Given the description of an element on the screen output the (x, y) to click on. 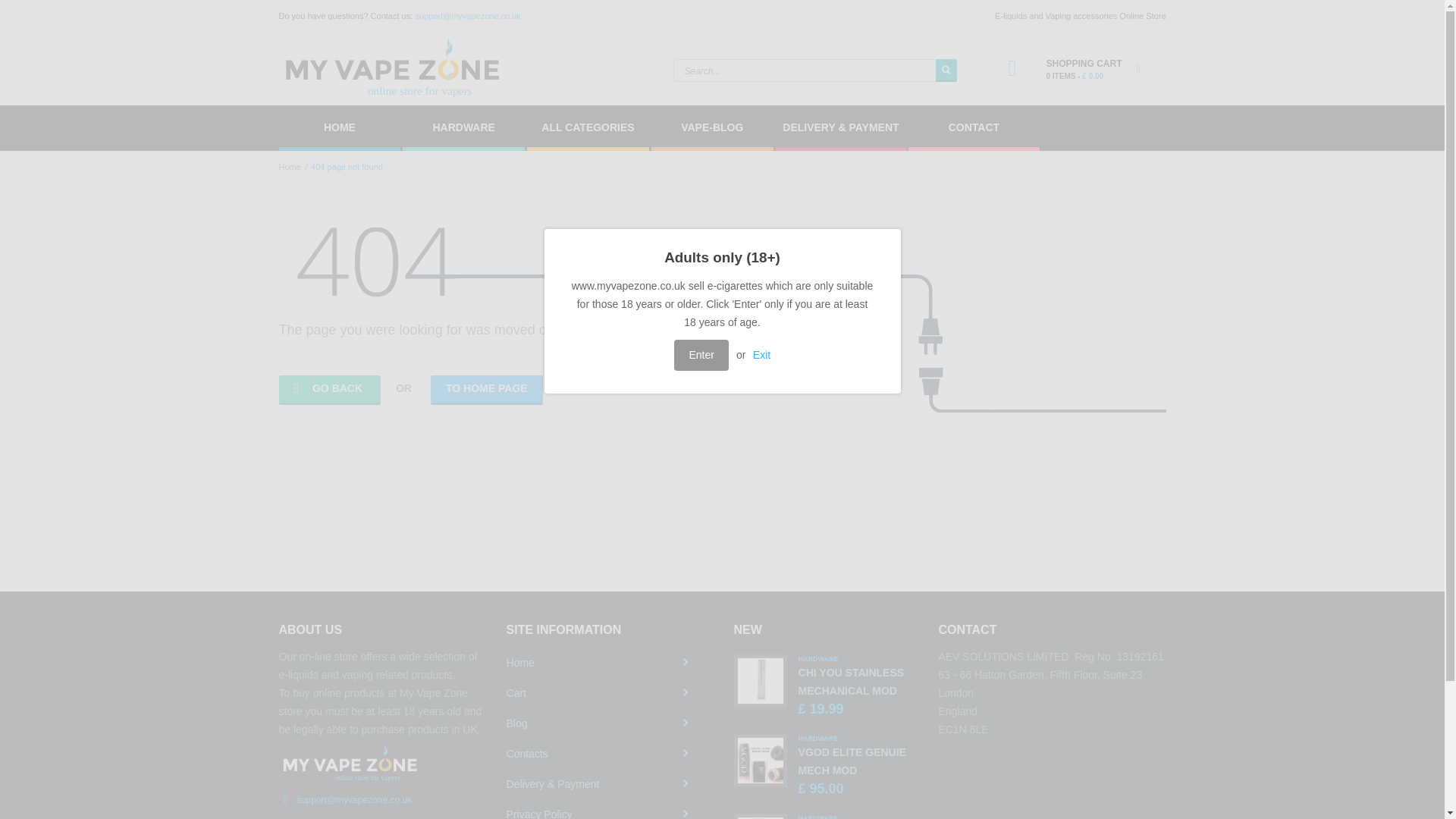
CHI YOU STAINLESS MECHANICAL MOD (850, 681)
Privacy Policy (597, 809)
Cart (851, 761)
HARDWARE (597, 692)
GO BACK (463, 127)
Blog (329, 389)
CONTACT (597, 722)
VAPE-BLOG (973, 127)
Enter (711, 127)
